Given the description of an element on the screen output the (x, y) to click on. 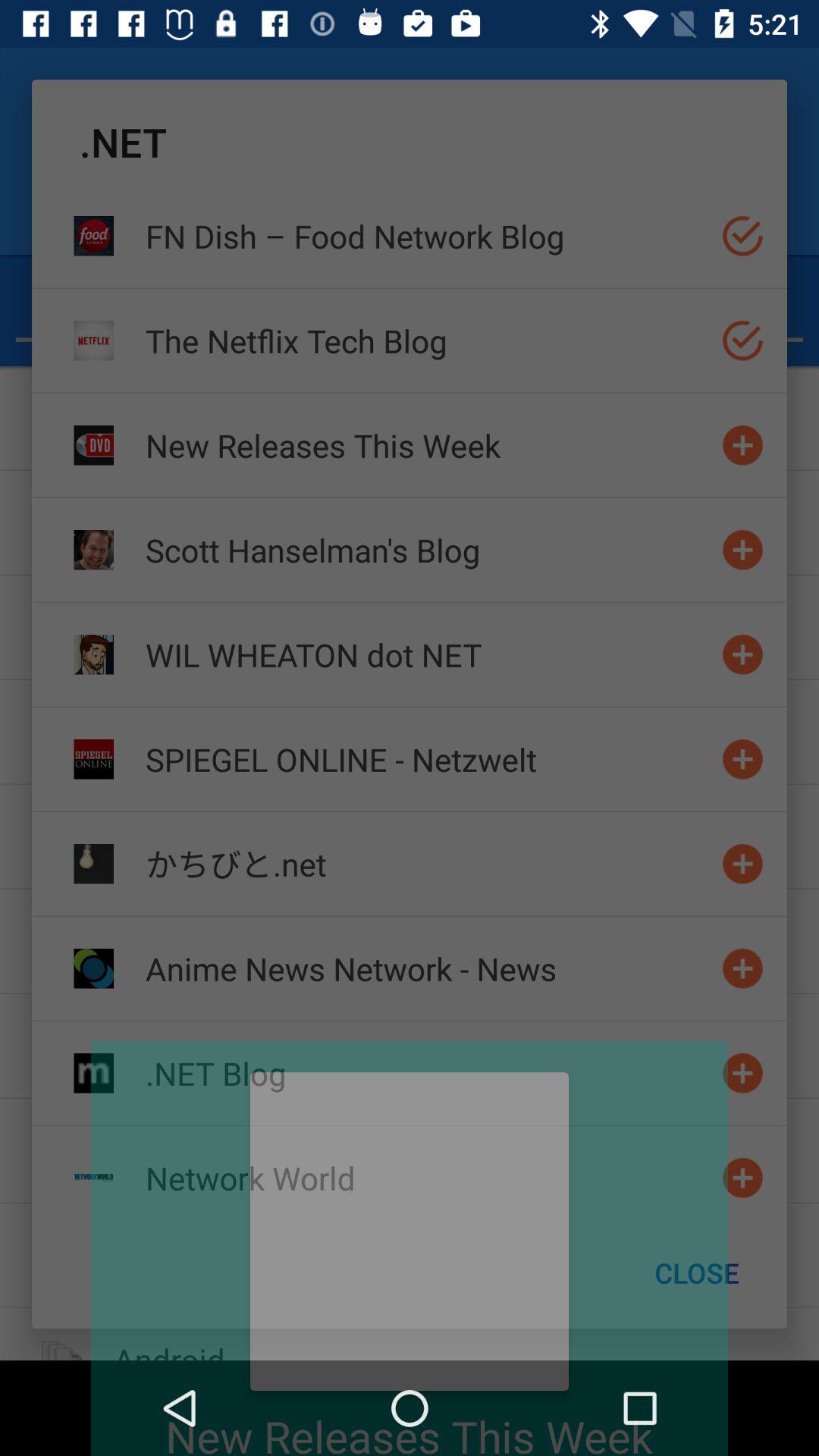
scroll until the anime news network item (426, 968)
